Given the description of an element on the screen output the (x, y) to click on. 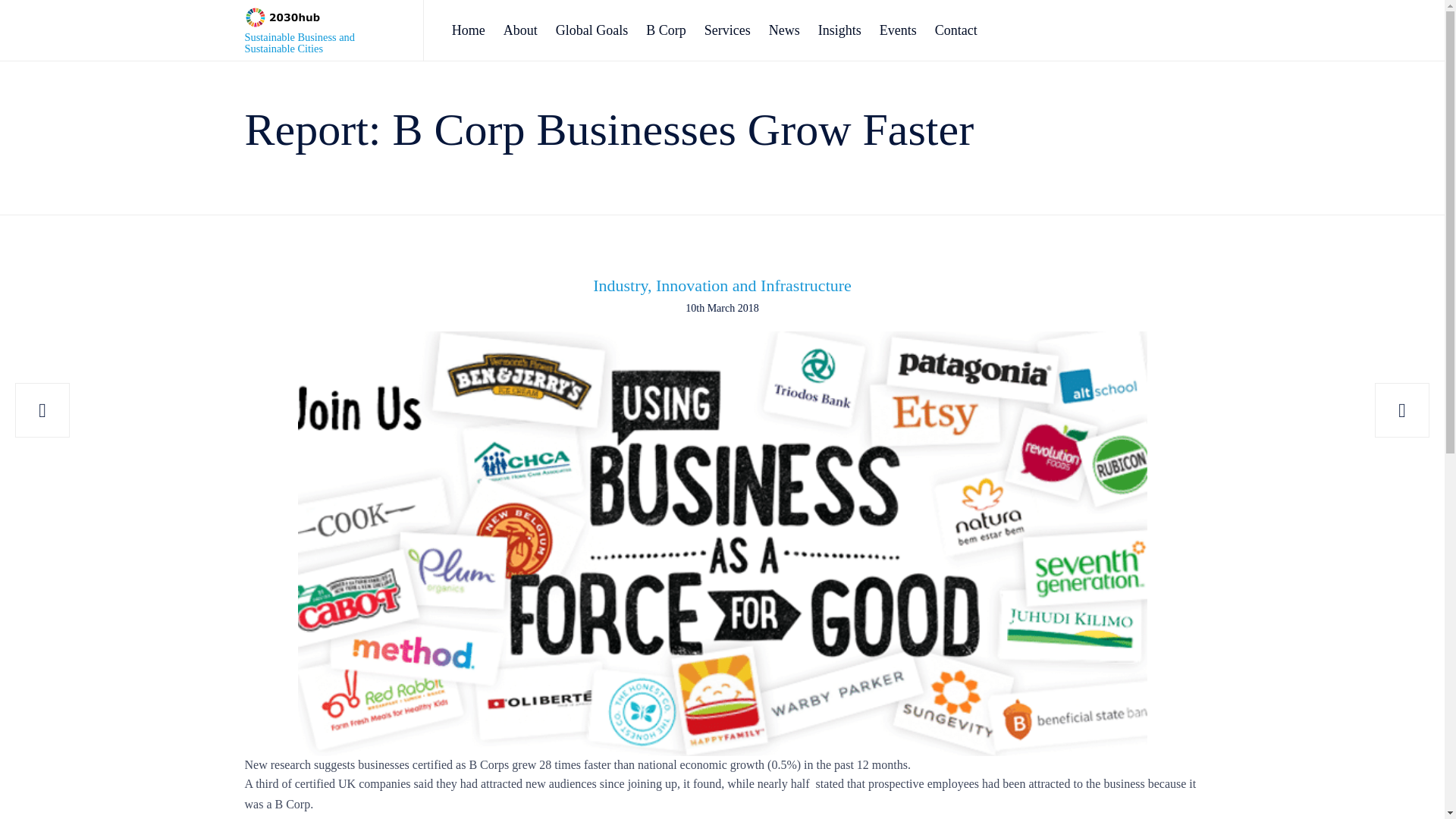
Global Goals (592, 30)
Services (727, 30)
Contact (956, 30)
Events (898, 30)
2030hub (321, 16)
B Corp (666, 30)
Insights (839, 30)
Industry, Innovation and Infrastructure (721, 286)
